Given the description of an element on the screen output the (x, y) to click on. 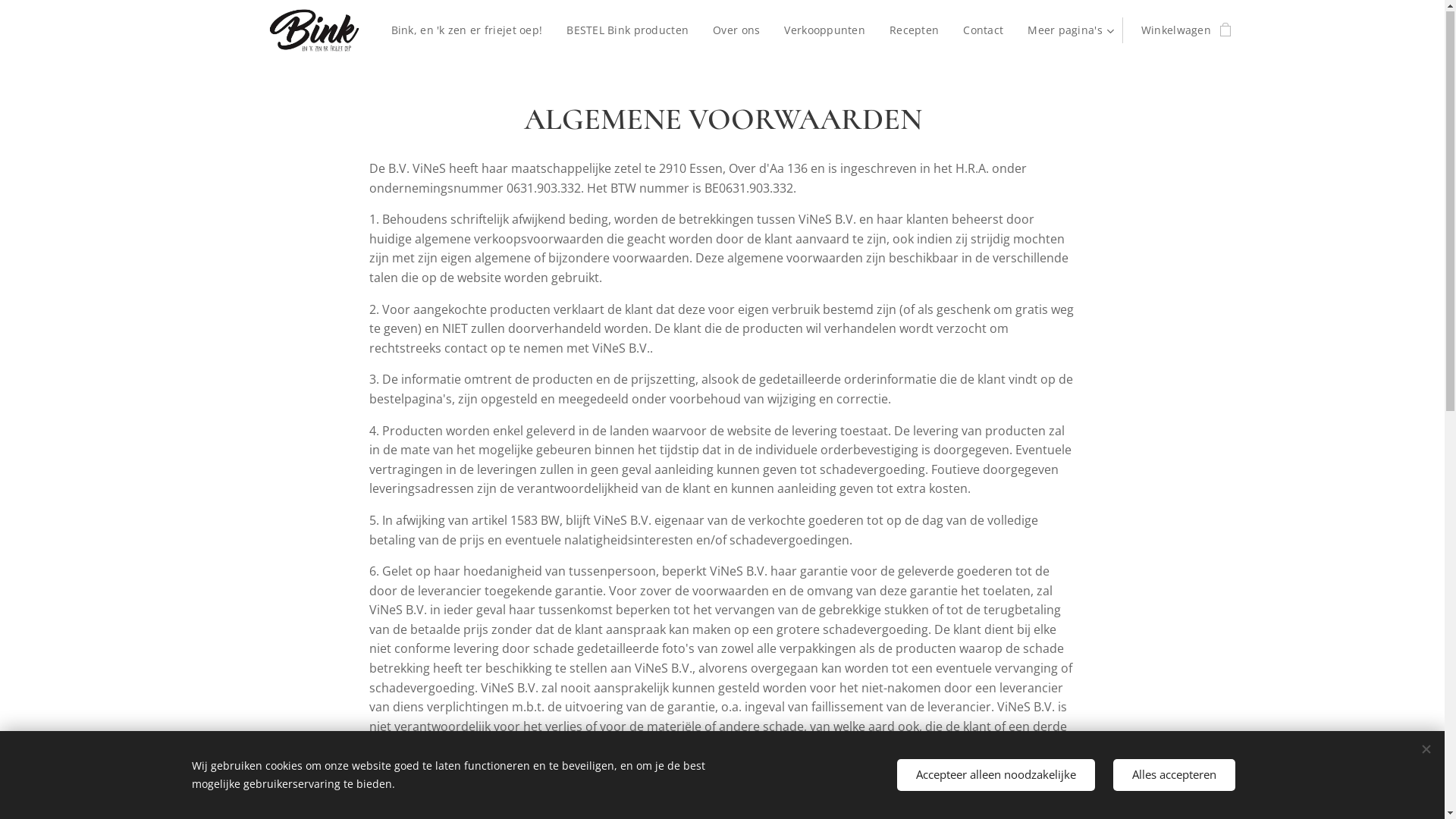
Over ons Element type: text (735, 31)
Meer pagina's Element type: text (1068, 31)
Bink, en 'k zen er friejet oep! Element type: text (471, 31)
BESTEL Bink producten Element type: text (627, 31)
Winkelwagen Element type: text (1180, 31)
Recepten Element type: text (913, 31)
Verkooppunten Element type: text (824, 31)
Accepteer alleen noodzakelijke Element type: text (995, 774)
Contact Element type: text (982, 31)
Alles accepteren Element type: text (1174, 774)
